Given the description of an element on the screen output the (x, y) to click on. 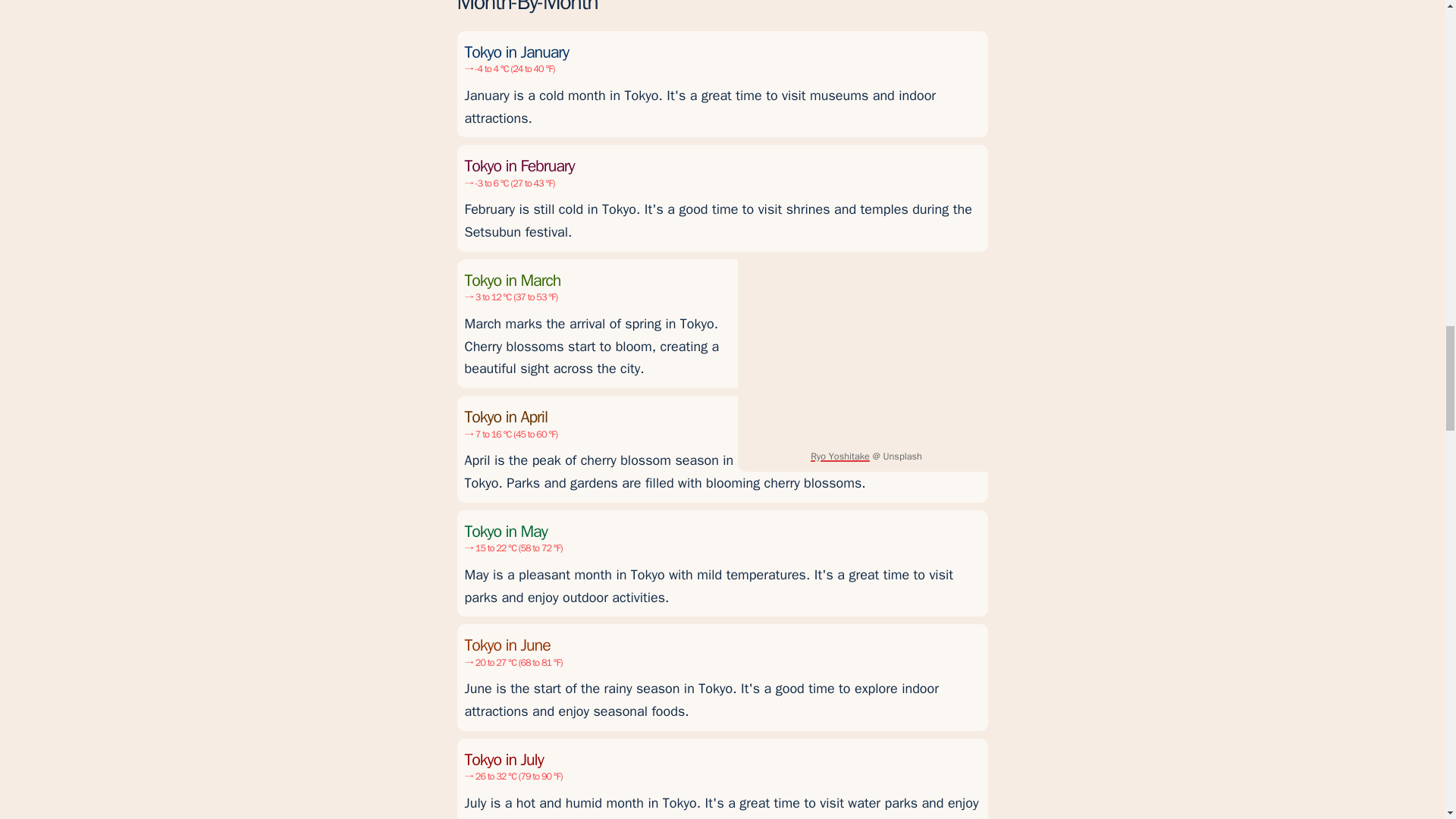
Ryo Yoshitake (839, 456)
